Given the description of an element on the screen output the (x, y) to click on. 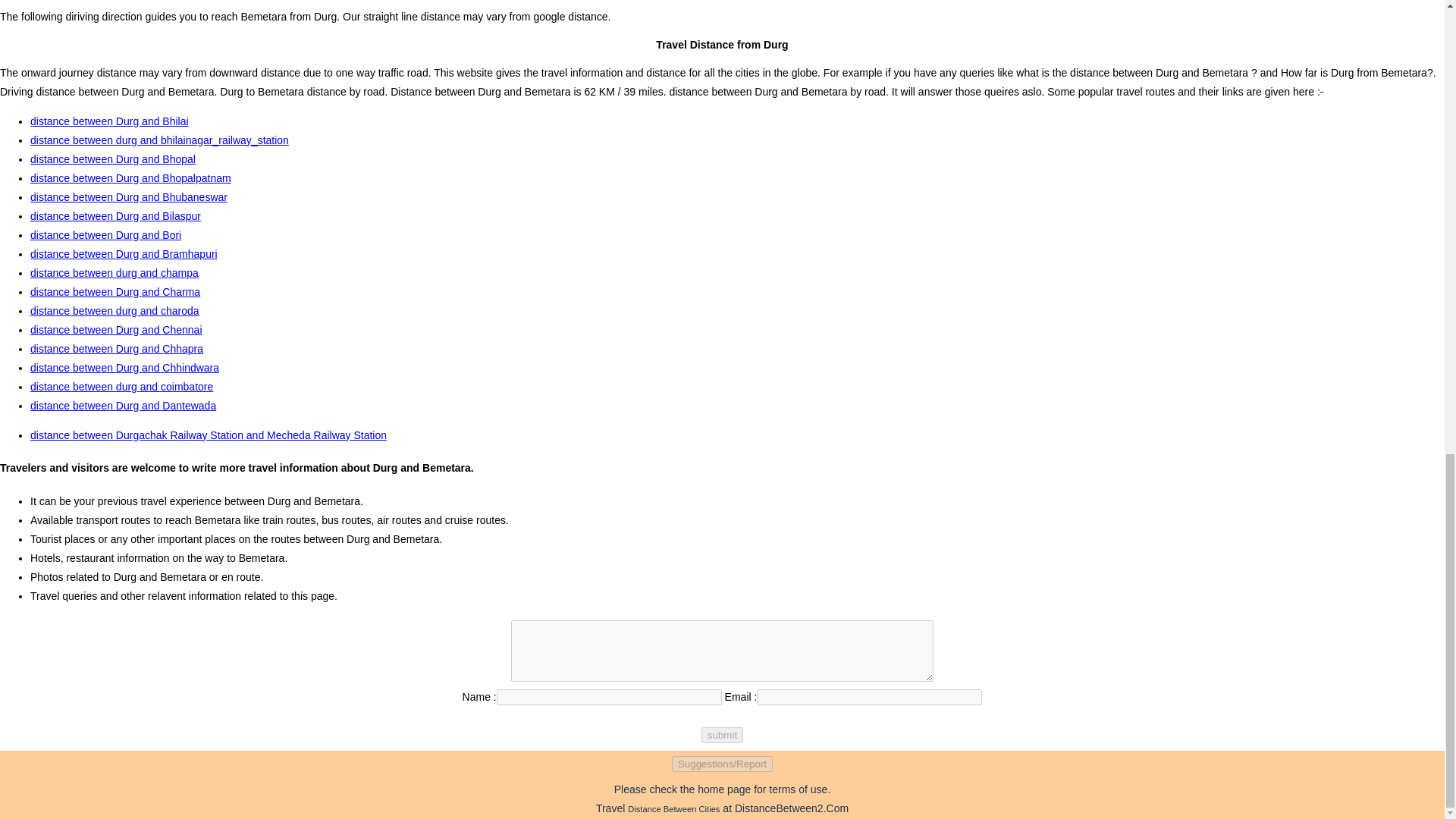
distance between Durg and Chennai (116, 329)
distance between durg and champa (114, 272)
distance between Durg and Chhapra (116, 348)
distance between Durg and Bilaspur (115, 215)
distance between Durg and Charma (115, 291)
Distance Between Cities (673, 809)
distance between Durg and Bhilai (109, 121)
submit (721, 734)
distance between Durg and Chhindwara (124, 367)
distance between Durg and Bhopal (112, 159)
distance between Durg and Bramhapuri (123, 254)
distance between Durg and Bhubaneswar (128, 196)
distance between durg and coimbatore (121, 386)
distance between Durg and Bori (105, 234)
